Given the description of an element on the screen output the (x, y) to click on. 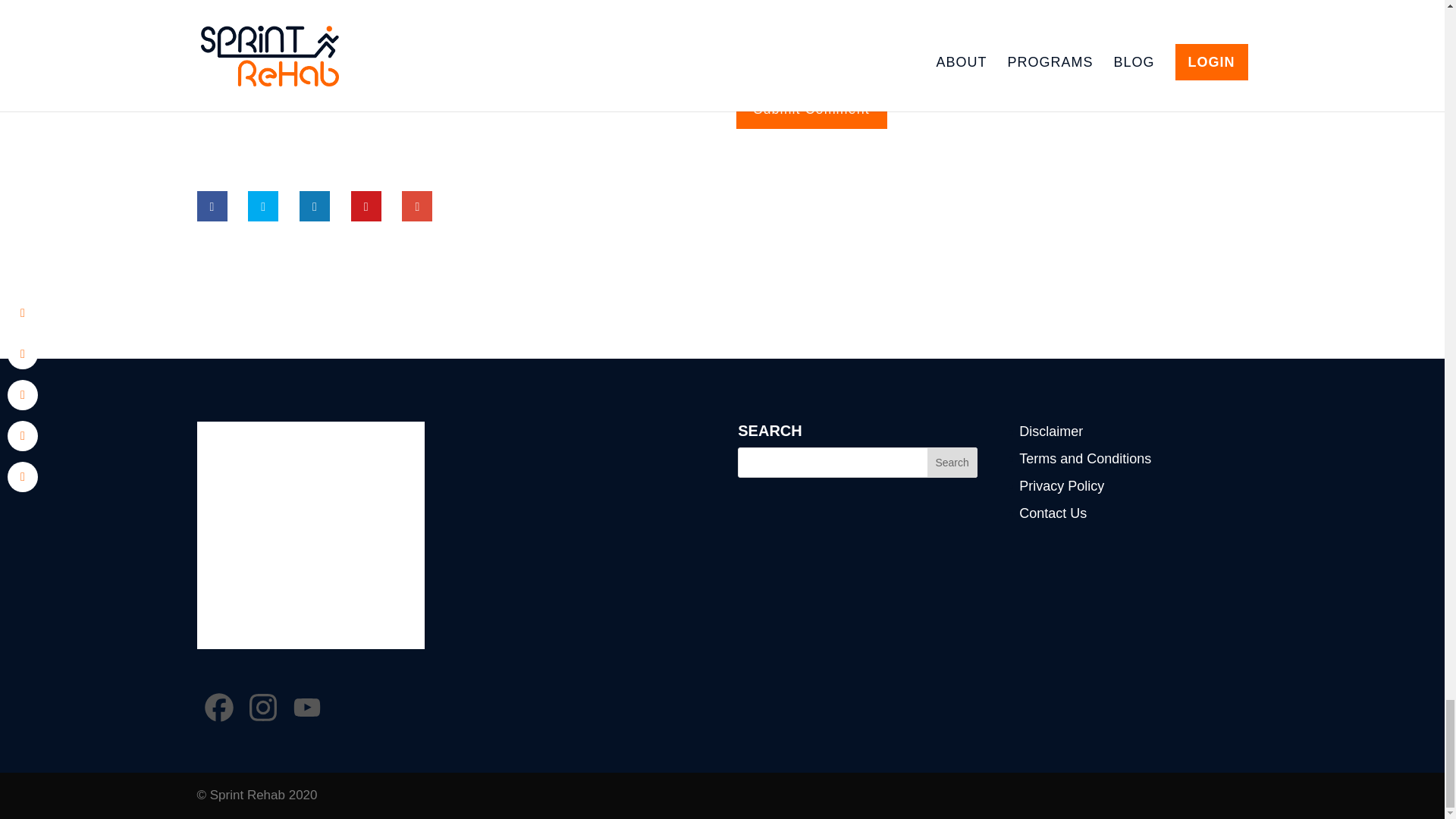
Search (951, 462)
Disclaimer (1051, 431)
Submit Comment (811, 108)
Search (951, 462)
